Given the description of an element on the screen output the (x, y) to click on. 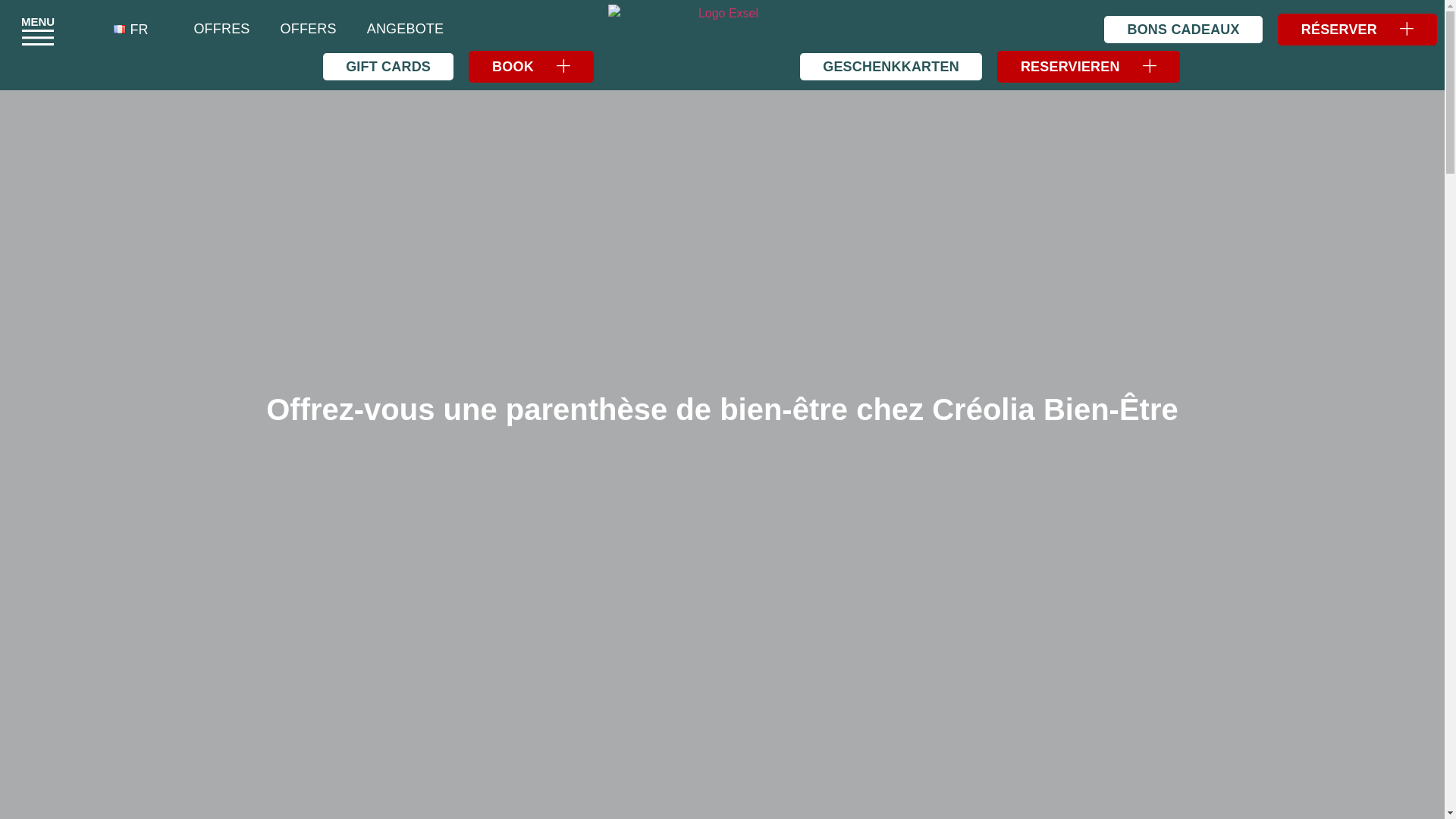
BOOK (531, 66)
GIFT CARDS (387, 66)
ANGEBOTE (405, 28)
OFFERS (308, 28)
OFFRES (220, 28)
FR (131, 29)
GESCHENKKARTEN (890, 66)
BONS CADEAUX (1182, 28)
RESERVIEREN (1088, 66)
